Given the description of an element on the screen output the (x, y) to click on. 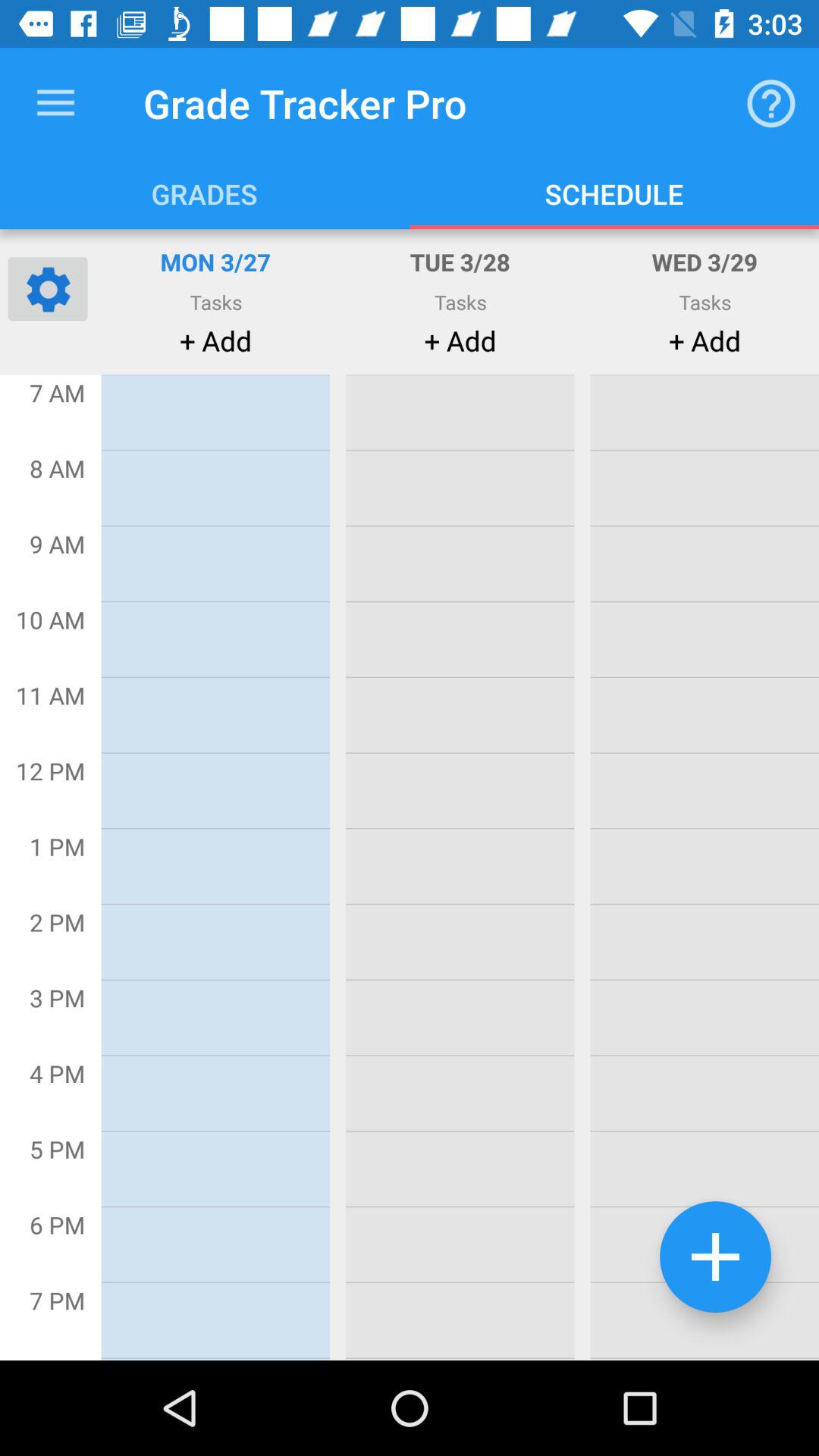
add event (715, 1256)
